Given the description of an element on the screen output the (x, y) to click on. 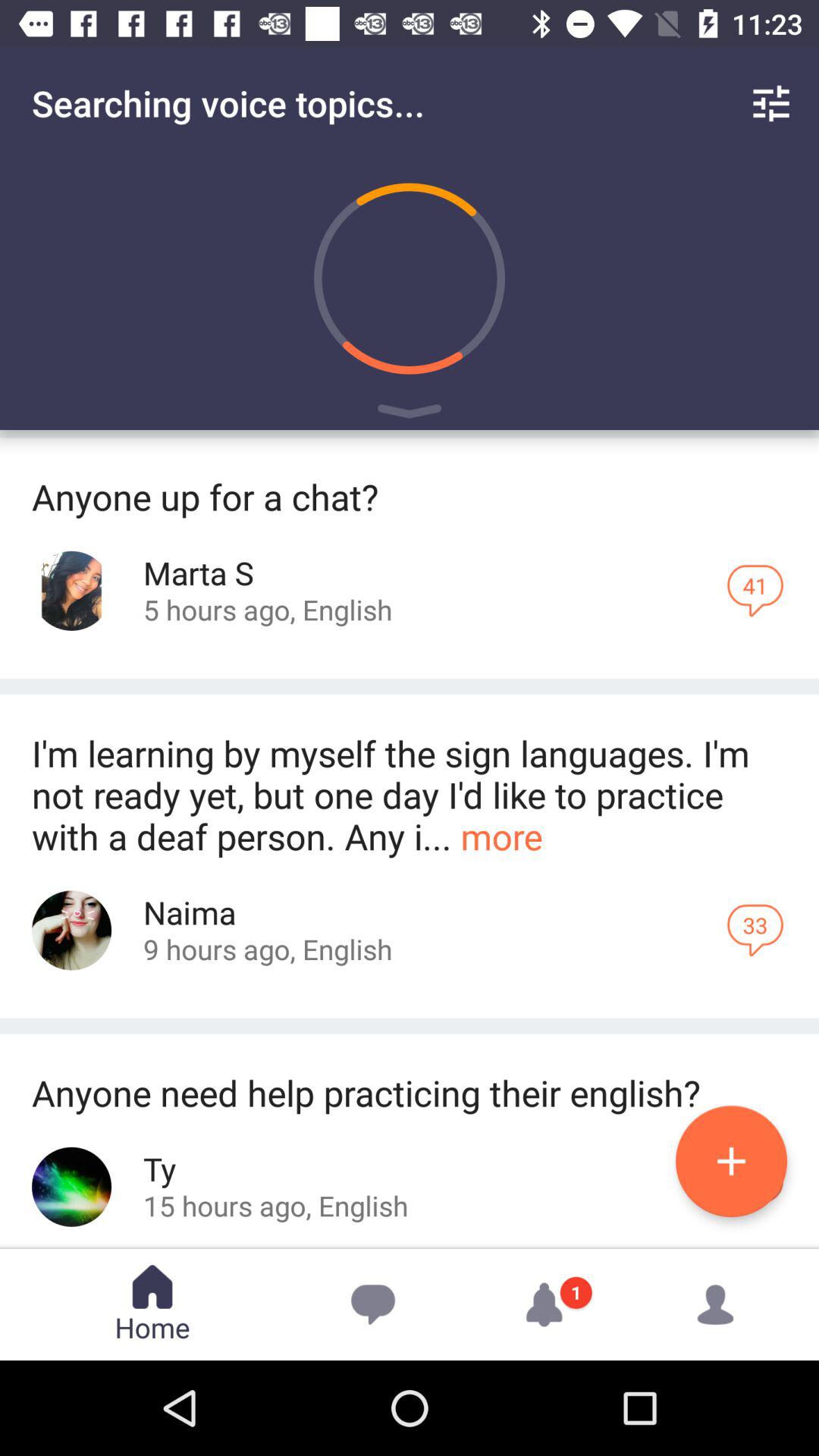
what sup page (71, 590)
